Given the description of an element on the screen output the (x, y) to click on. 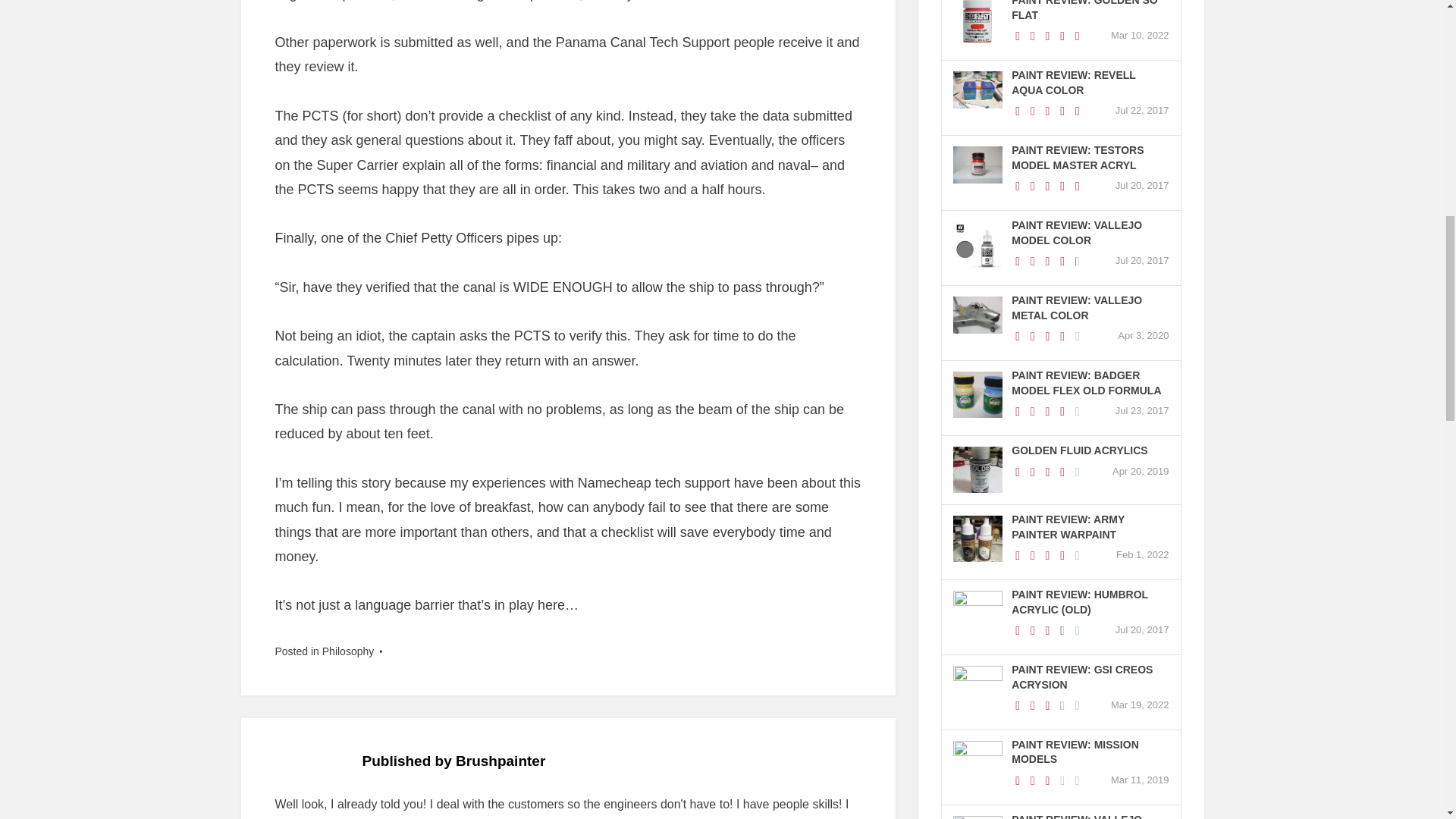
PAINT REVIEW: GOLDEN SO FLAT (1084, 10)
PAINT REVIEW: VALLEJO MODEL COLOR (1076, 232)
Paint Review: Vallejo Model Color (1076, 232)
Paint Review: Golden So Flat (1084, 10)
Philosophy (347, 651)
PAINT REVIEW: TESTORS MODEL MASTER ACRYL (1076, 157)
Paint Review: Revell Aqua Color (1073, 82)
PAINT REVIEW: VALLEJO METAL COLOR (1076, 307)
Paint Review: Testors Model Master Acryl (1076, 157)
PAINT REVIEW: BADGER MODEL FLEX OLD FORMULA (1085, 382)
PAINT REVIEW: REVELL AQUA COLOR (1073, 82)
